Given the description of an element on the screen output the (x, y) to click on. 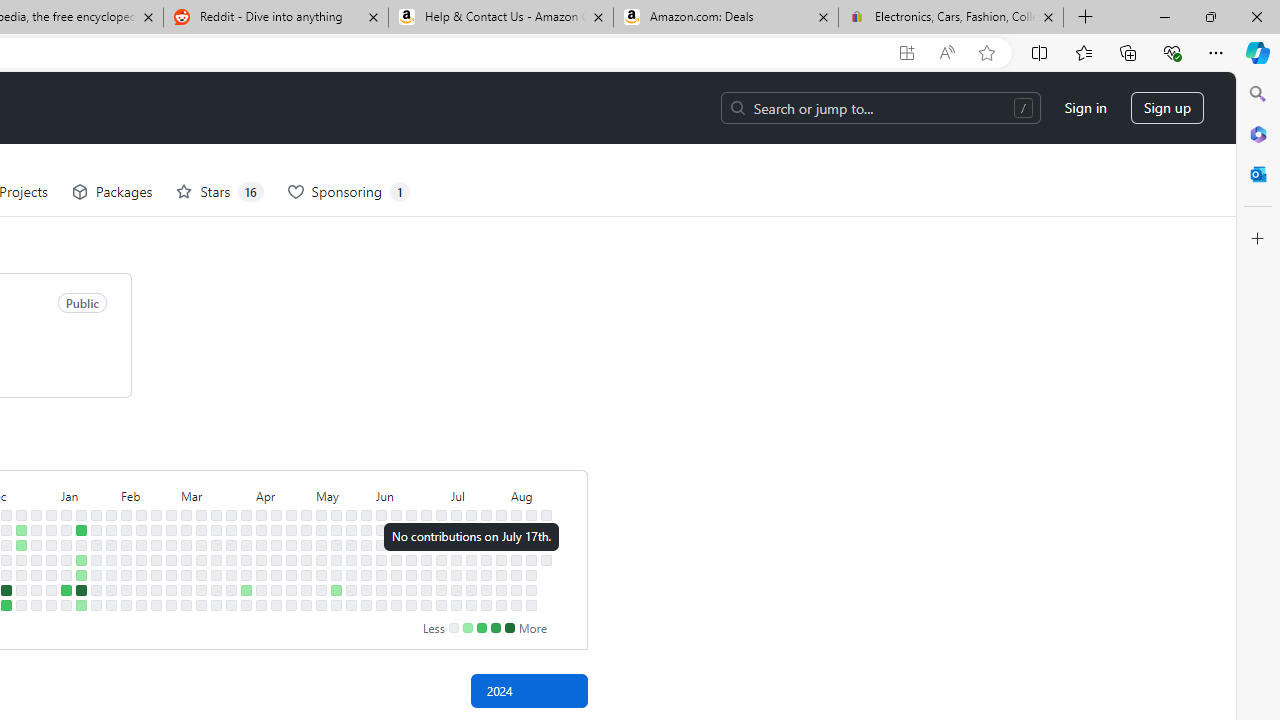
No contributions on March 30th. (231, 605)
1 contribution on December 19th. (20, 544)
No contributions on April 15th. (276, 529)
No contributions on July 29th. (501, 529)
No contributions on January 5th. (51, 589)
No contributions on January 27th. (96, 605)
No contributions on July 15th. (471, 529)
No contributions on January 30th. (111, 544)
May (344, 493)
No contributions on April 26th. (290, 589)
No contributions on July 27th. (486, 605)
No contributions on March 28th. (231, 574)
No contributions on March 27th. (231, 559)
No contributions on April 2nd. (246, 544)
No contributions on June 4th. (381, 544)
